Given the description of an element on the screen output the (x, y) to click on. 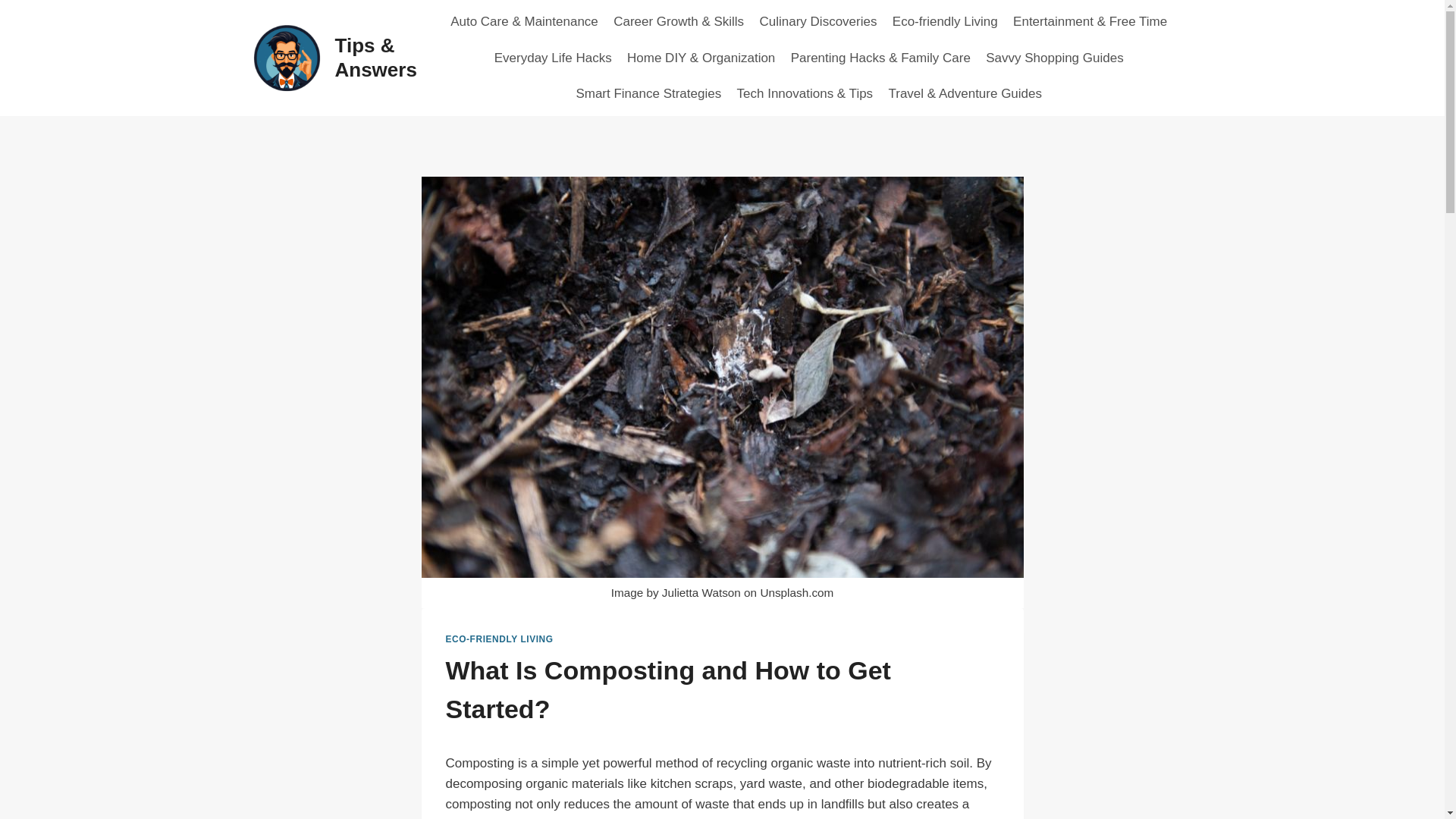
Savvy Shopping Guides (1054, 58)
Smart Finance Strategies (648, 94)
Everyday Life Hacks (553, 58)
ECO-FRIENDLY LIVING (499, 638)
Eco-friendly Living (945, 22)
Culinary Discoveries (817, 22)
